Given the description of an element on the screen output the (x, y) to click on. 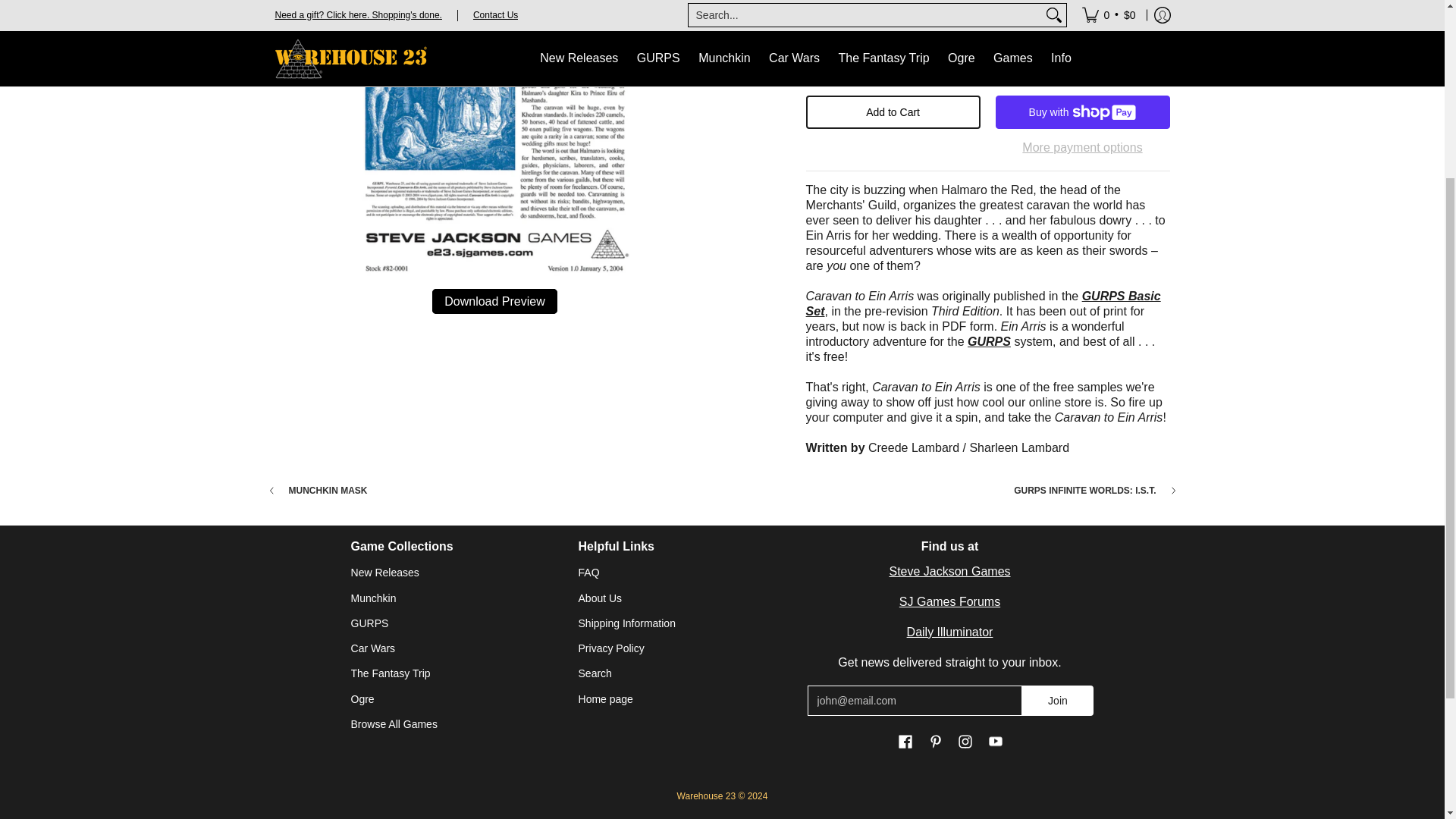
1 (861, 57)
